Given the description of an element on the screen output the (x, y) to click on. 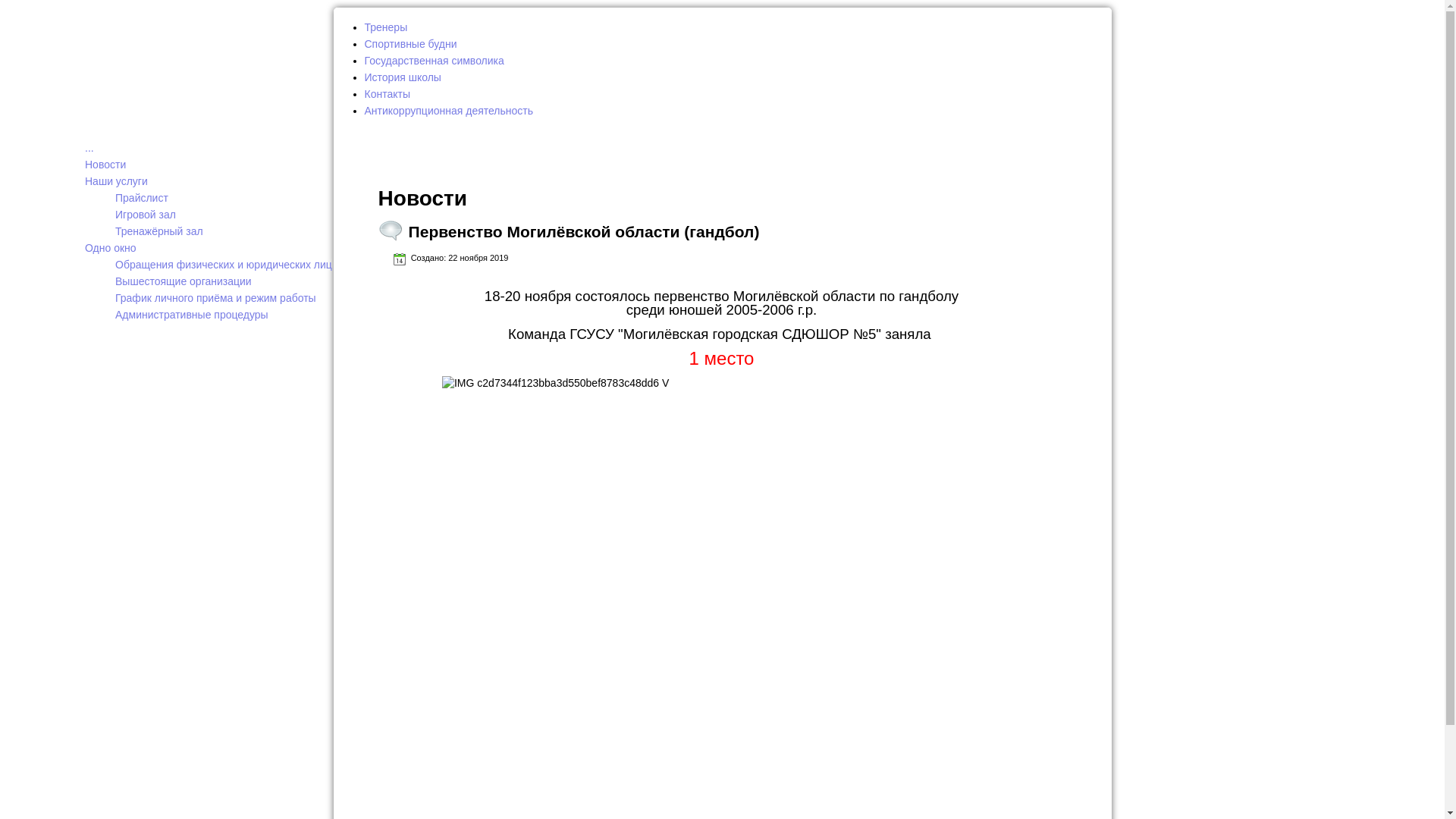
... Element type: text (89, 147)
